Given the description of an element on the screen output the (x, y) to click on. 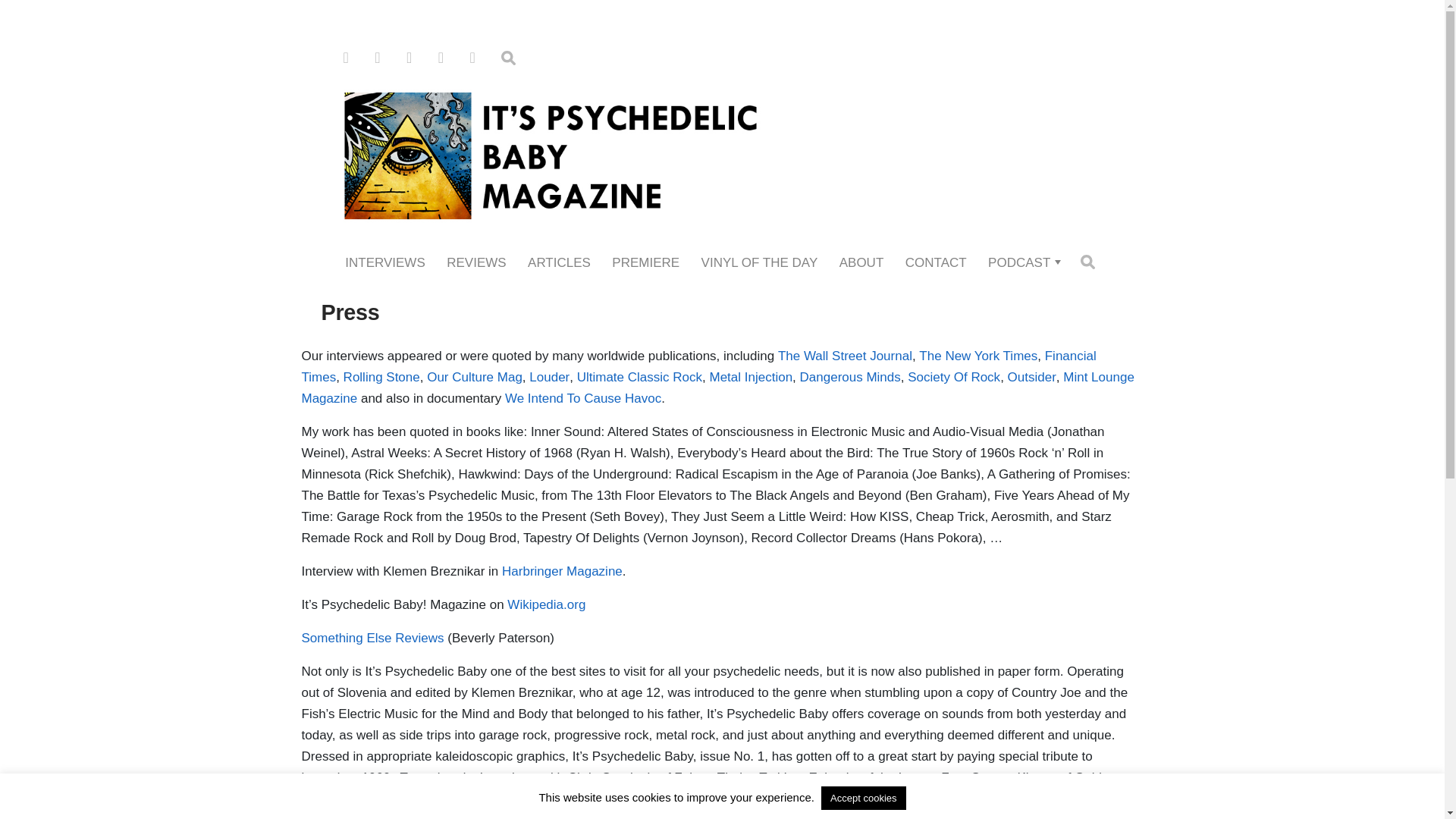
ARTICLES (559, 262)
CONTACT (935, 262)
PODCAST (1018, 262)
ABOUT (861, 262)
REVIEWS (475, 262)
VINYL OF THE DAY (759, 262)
INTERVIEWS (385, 262)
PREMIERE (645, 262)
It's Psychedelic Baby Magazine (722, 153)
